Given the description of an element on the screen output the (x, y) to click on. 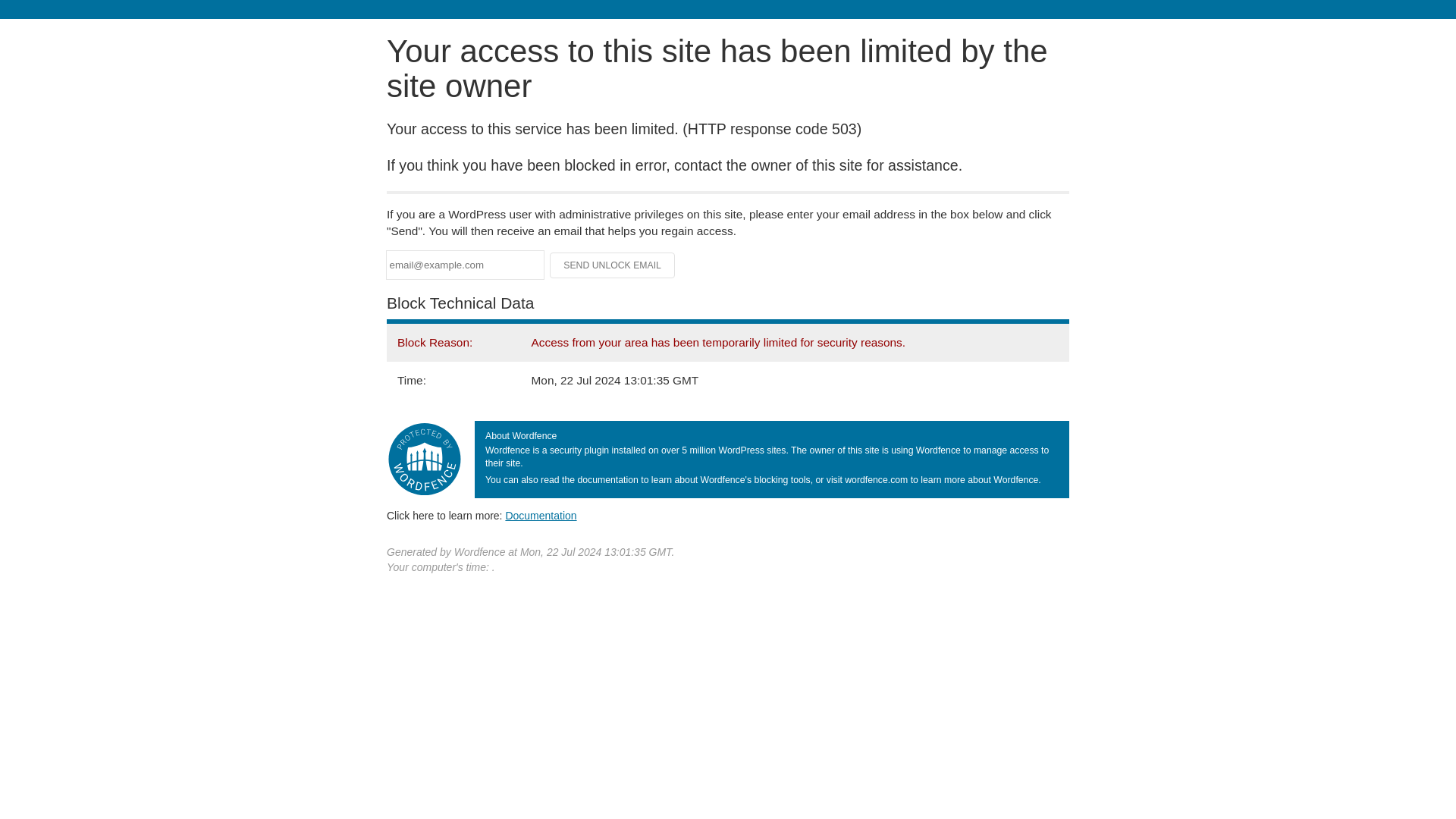
Send Unlock Email (612, 265)
Send Unlock Email (612, 265)
Documentation (540, 515)
